Given the description of an element on the screen output the (x, y) to click on. 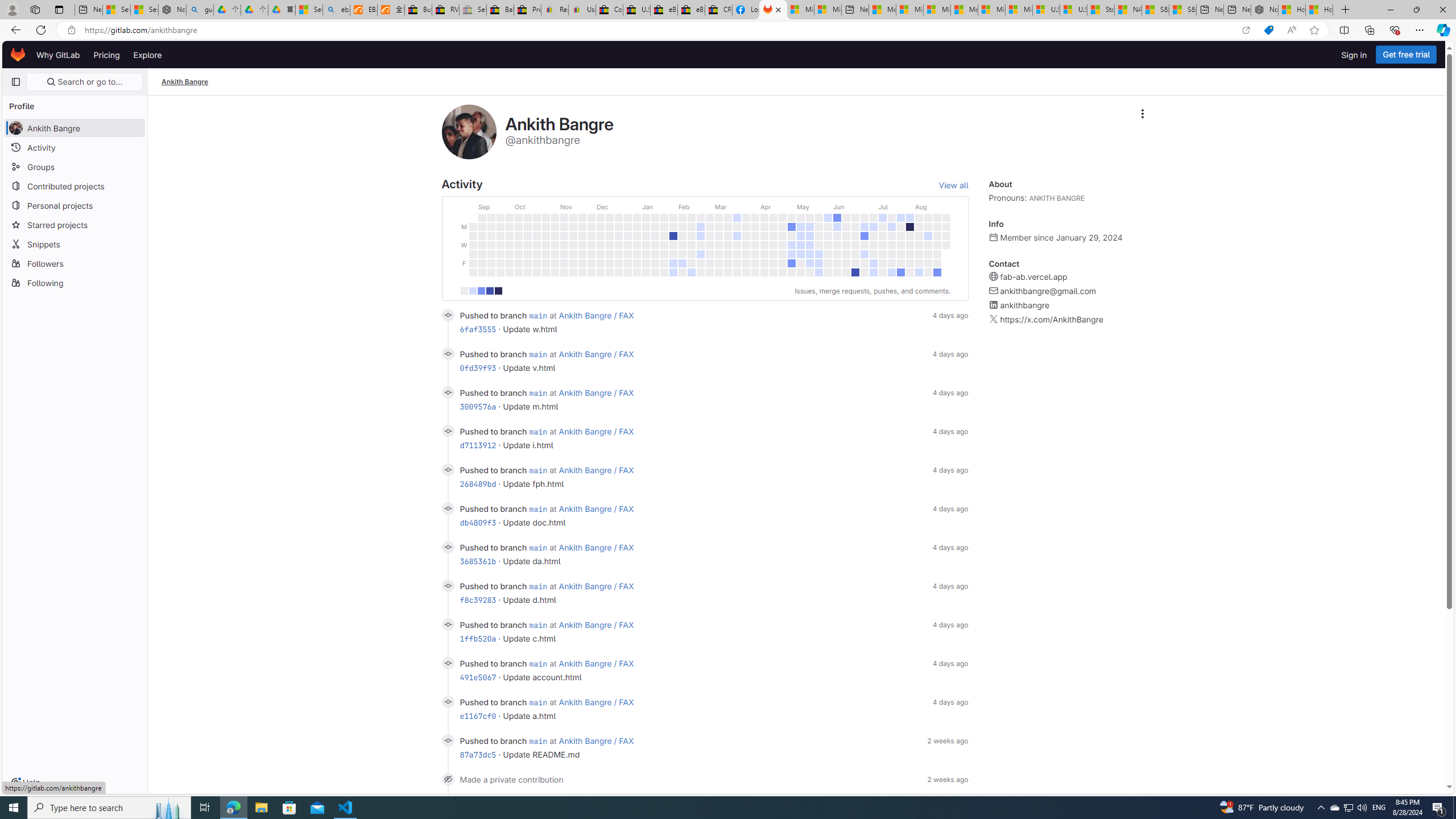
20-29 contributions (489, 290)
No contributions (463, 290)
Sell worldwide with eBay - Sleeping (473, 9)
